Given the description of an element on the screen output the (x, y) to click on. 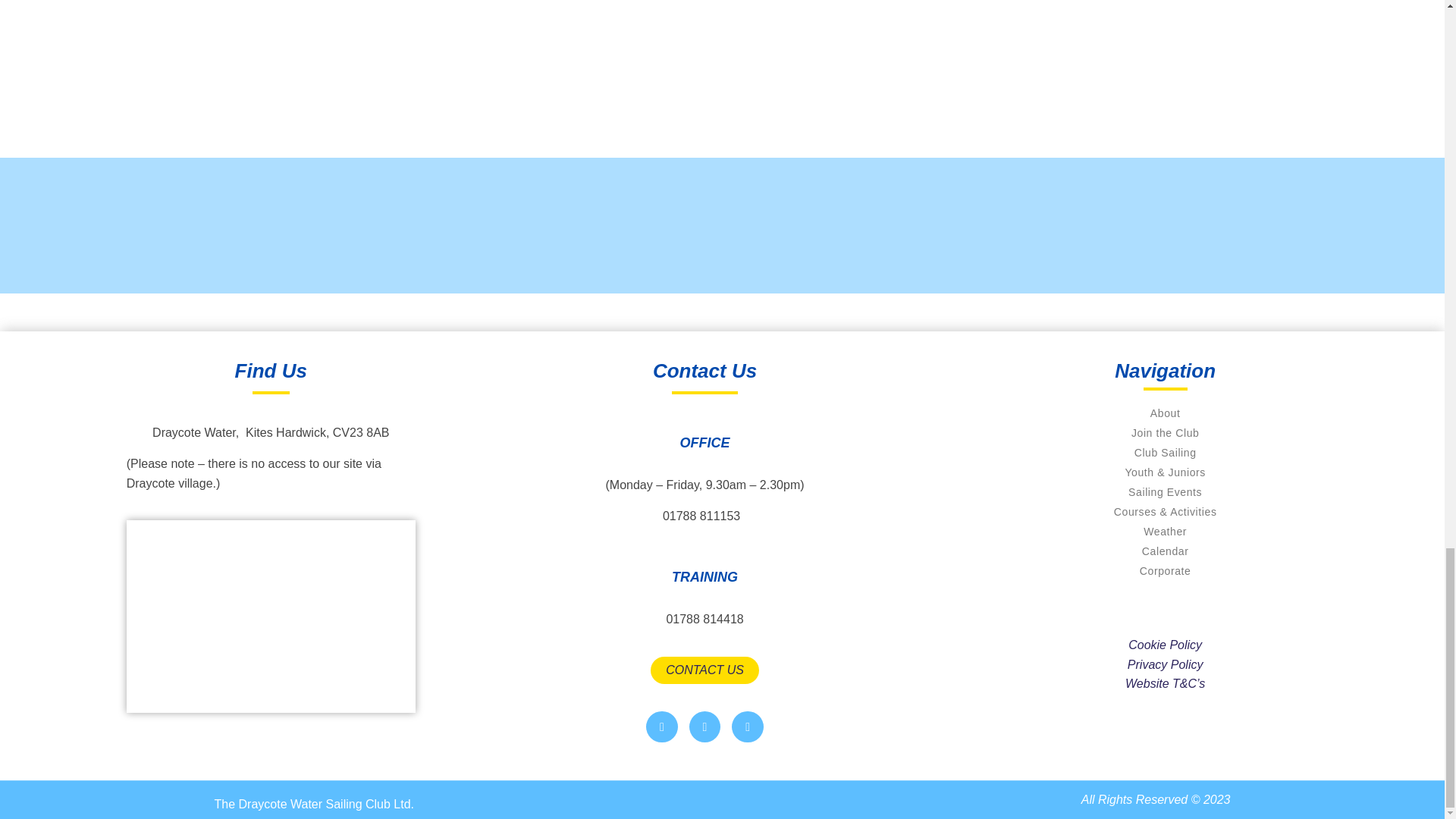
draycote water sailing club (270, 616)
